Given the description of an element on the screen output the (x, y) to click on. 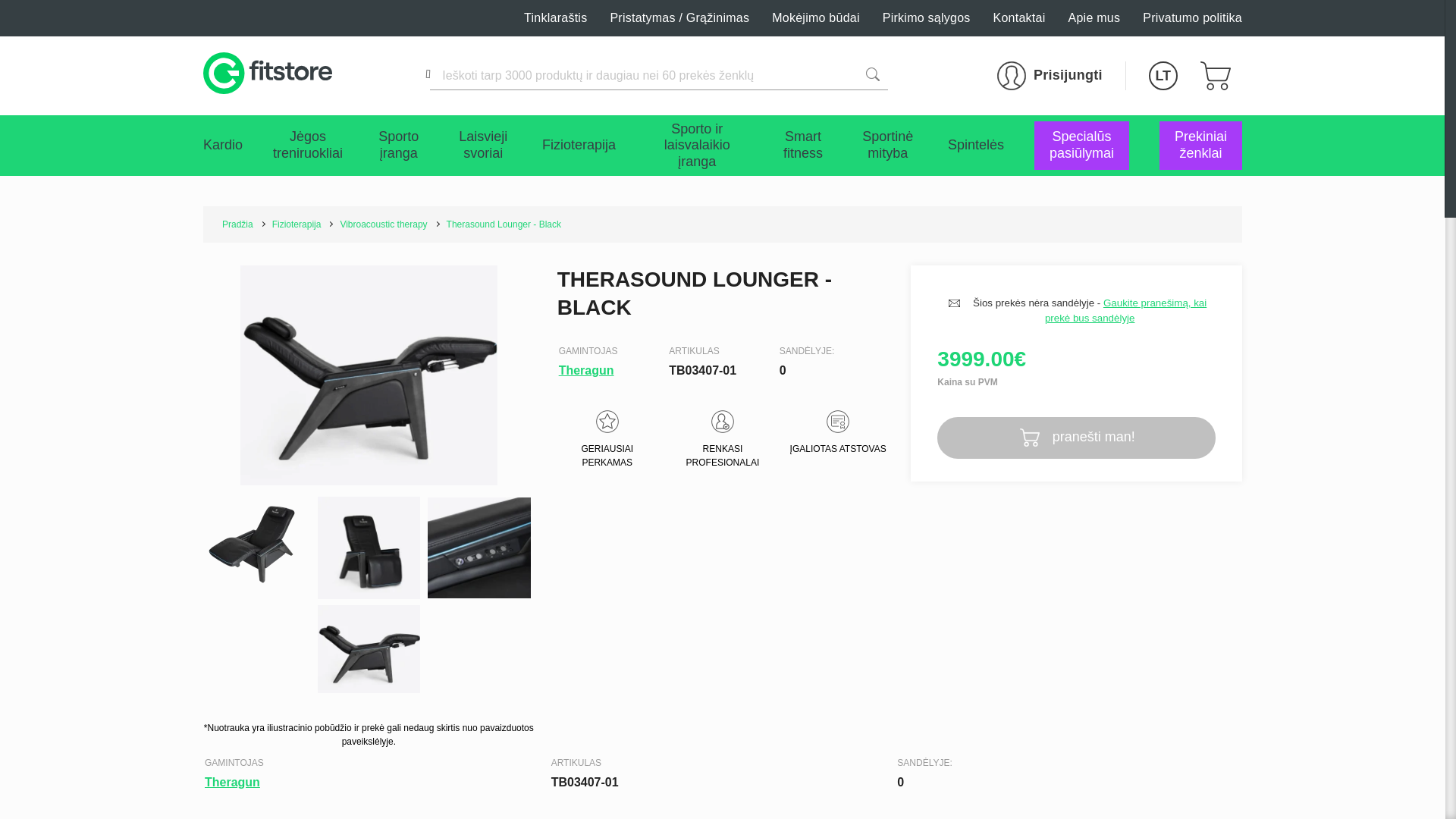
Prisijungti (1049, 75)
Kardio (223, 145)
Privatumo politika (1191, 17)
LT (1162, 75)
Fitstore Lithuania (267, 75)
Kontaktai (1018, 17)
Lithuanian (1162, 75)
Apie mus (1094, 17)
Prisijungti (1049, 75)
Kontaktai (1018, 17)
